Given the description of an element on the screen output the (x, y) to click on. 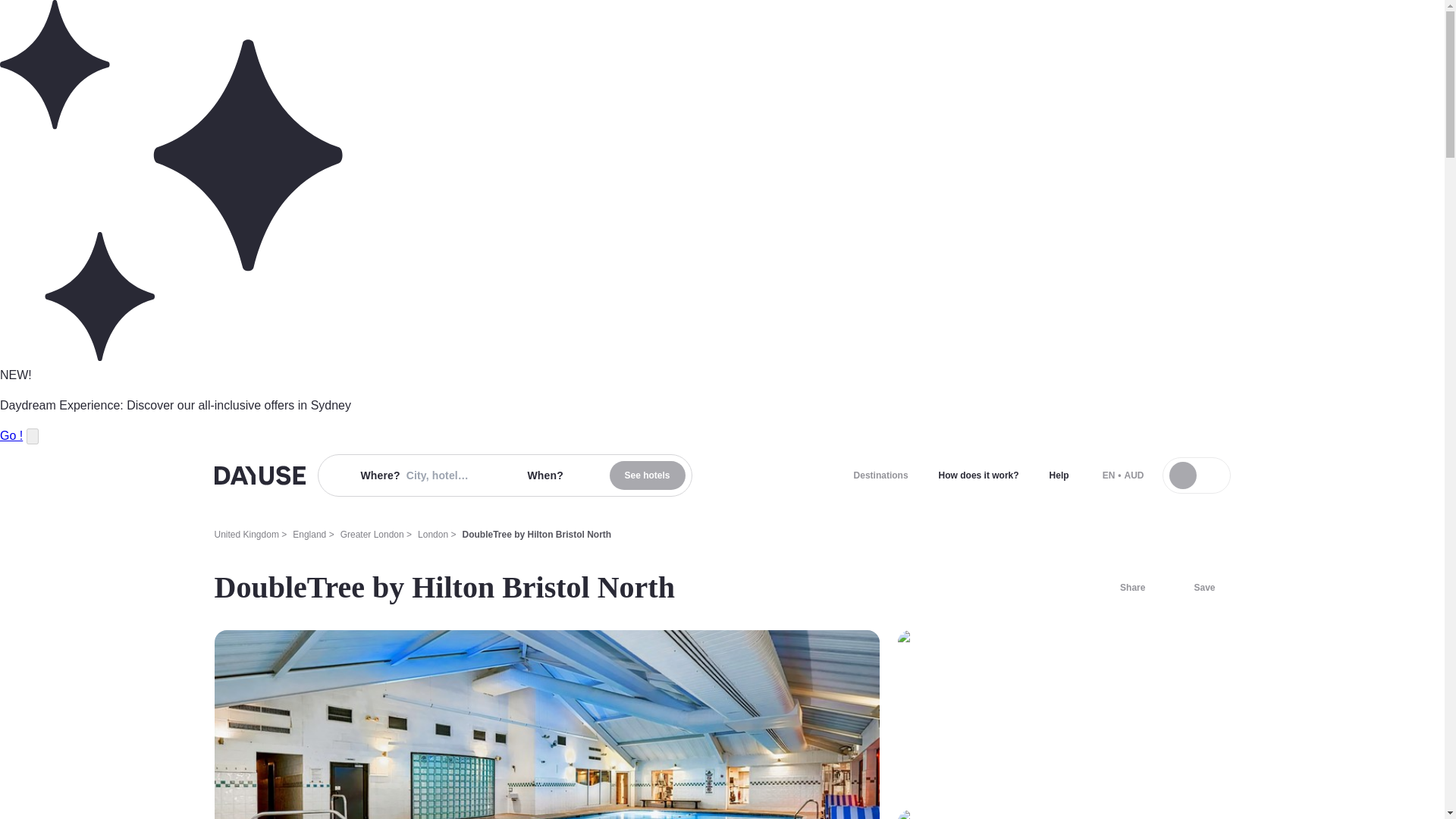
Destinations (880, 474)
Greater London (372, 534)
London (432, 534)
Save (1195, 587)
Dayuse (259, 475)
England (309, 534)
United Kingdom (246, 534)
Help (1058, 474)
Share (1123, 587)
See hotels (647, 475)
